Given the description of an element on the screen output the (x, y) to click on. 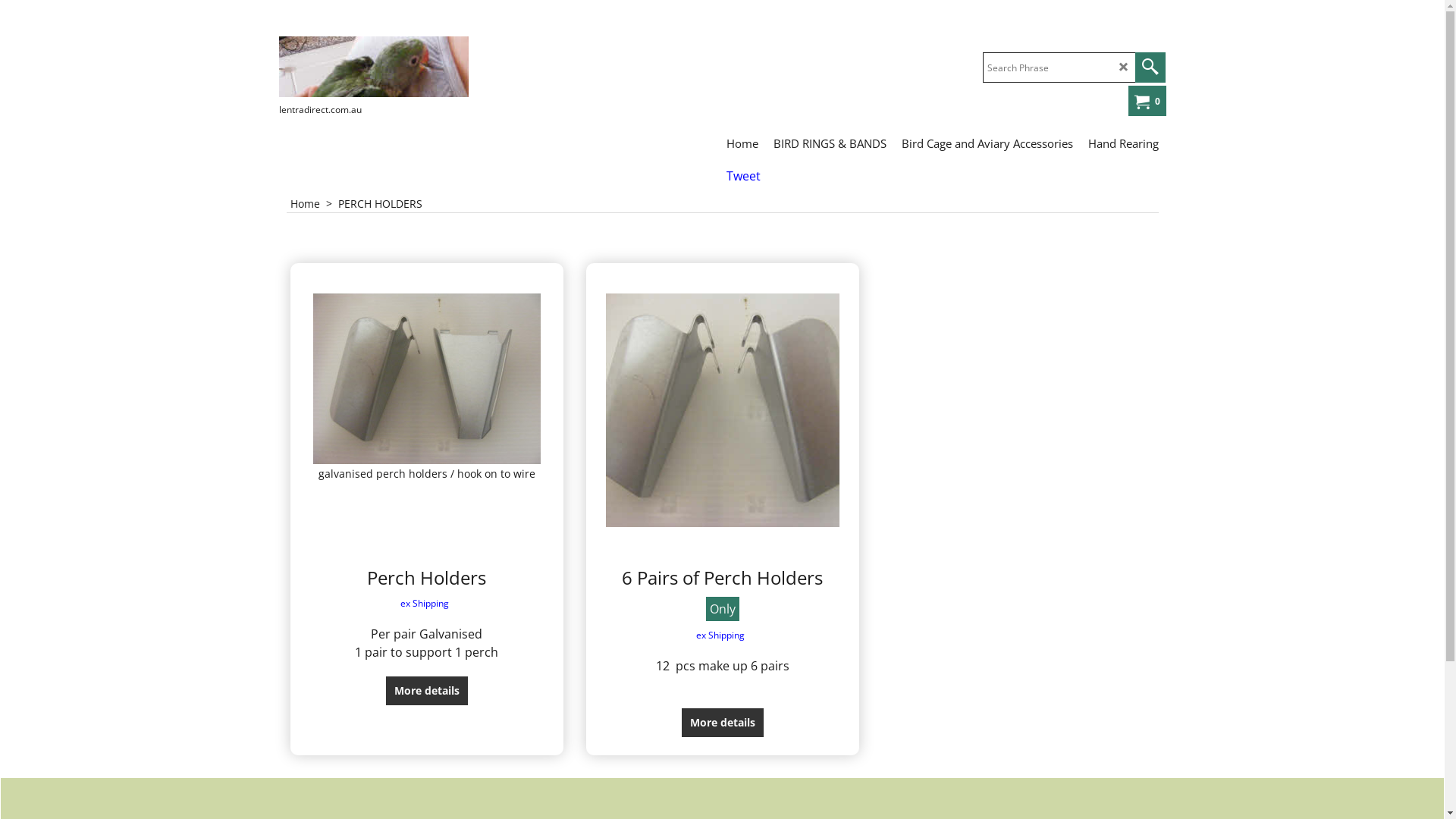
lentradirect.com.au Element type: hover (392, 66)
ex Shipping Element type: text (721, 634)
Home  >  Element type: text (313, 203)
Hand Rearing Element type: text (1122, 143)
Tweet Element type: text (743, 175)
More details Element type: text (426, 690)
Perch Holders Element type: text (425, 576)
0 Element type: text (1144, 101)
BIRD RINGS & BANDS Element type: text (829, 143)
Find Element type: hover (1149, 67)
Bird Cage and Aviary Accessories Element type: text (986, 143)
Home Element type: text (741, 143)
ex Shipping Element type: text (425, 602)
galvanised perch holders / hook on to wire Element type: text (425, 425)
6 Pairs of Perch Holders Element type: text (721, 576)
lentradirect.com.au Element type: hover (373, 66)
More details Element type: text (722, 722)
LD_CANCEL Element type: hover (1123, 66)
gal2_20171212134103 Element type: hover (425, 378)
